Given the description of an element on the screen output the (x, y) to click on. 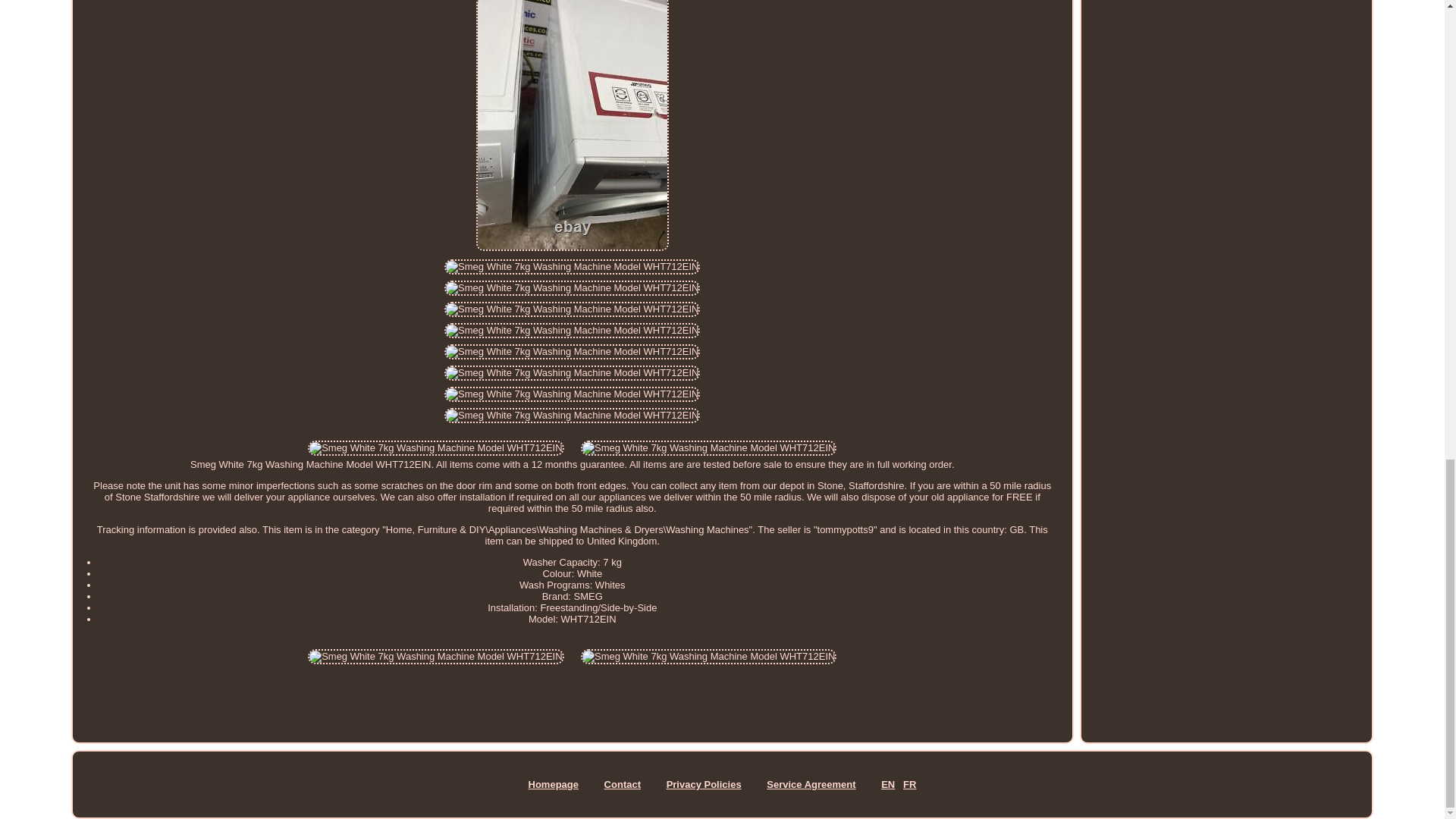
Smeg White 7kg Washing Machine Model WHT712EIN (572, 330)
Smeg White 7kg Washing Machine Model WHT712EIN (435, 656)
Smeg White 7kg Washing Machine Model WHT712EIN (572, 287)
Smeg White 7kg Washing Machine Model WHT712EIN (707, 447)
Smeg White 7kg Washing Machine Model WHT712EIN (572, 372)
Smeg White 7kg Washing Machine Model WHT712EIN (435, 447)
Smeg White 7kg Washing Machine Model WHT712EIN (572, 351)
Smeg White 7kg Washing Machine Model WHT712EIN (572, 394)
Smeg White 7kg Washing Machine Model WHT712EIN (707, 656)
Smeg White 7kg Washing Machine Model WHT712EIN (572, 266)
Smeg White 7kg Washing Machine Model WHT712EIN (572, 415)
Smeg White 7kg Washing Machine Model WHT712EIN (572, 309)
